Given the description of an element on the screen output the (x, y) to click on. 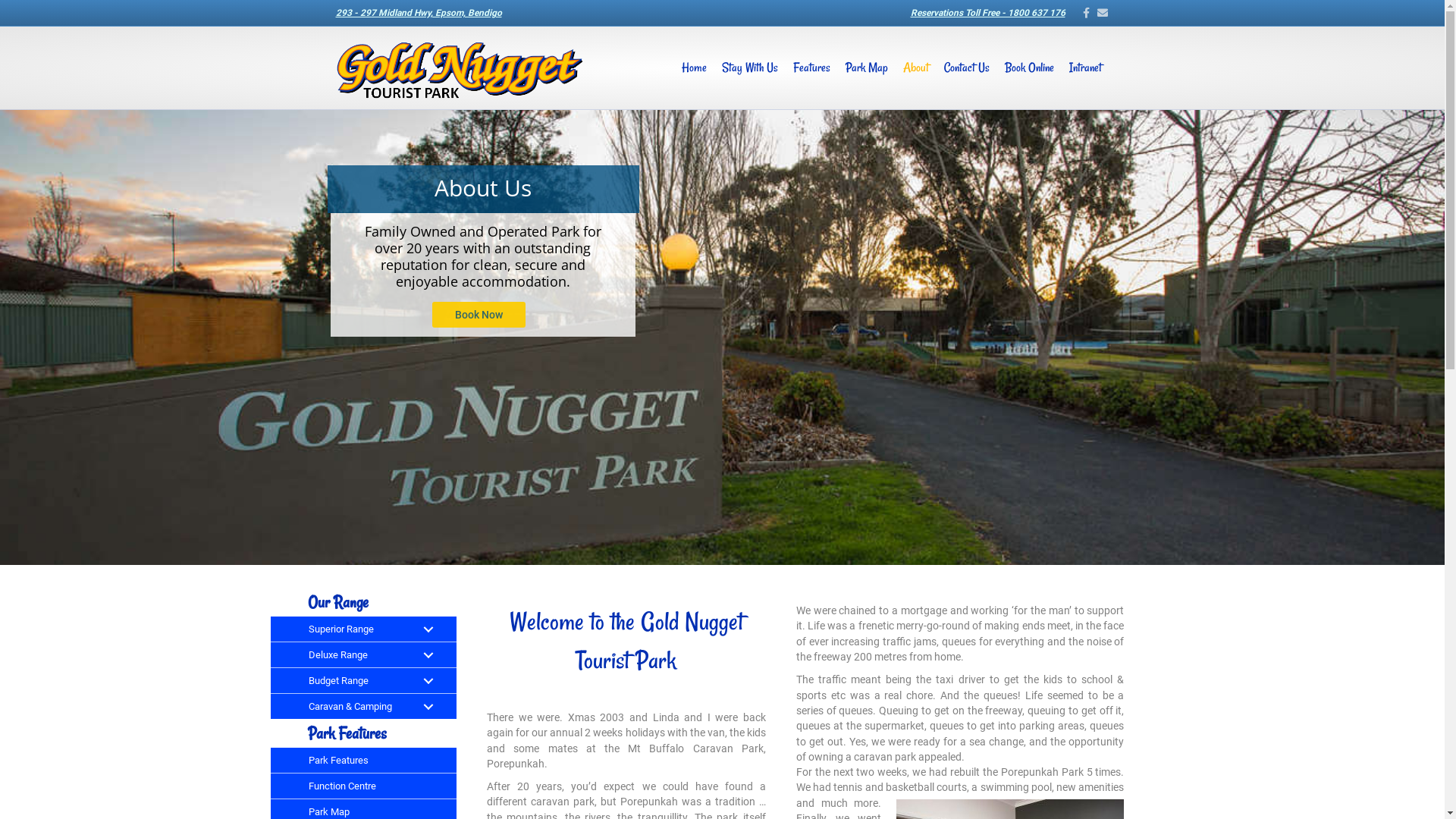
Home Element type: text (693, 67)
Intranet Element type: text (1085, 67)
Function Centre Element type: text (362, 785)
Park Map Element type: text (865, 67)
Budget Range Element type: text (362, 680)
Email Element type: text (1097, 11)
Deluxe Range Element type: text (362, 654)
Superior Range Element type: text (362, 628)
Facebook Element type: text (1079, 11)
Caravan & Camping Element type: text (362, 705)
Book Online Element type: text (1028, 67)
About Element type: text (914, 67)
Contact Us Element type: text (965, 67)
Park Features Element type: text (362, 759)
Stay With Us Element type: text (749, 67)
Features Element type: text (811, 67)
